Given the description of an element on the screen output the (x, y) to click on. 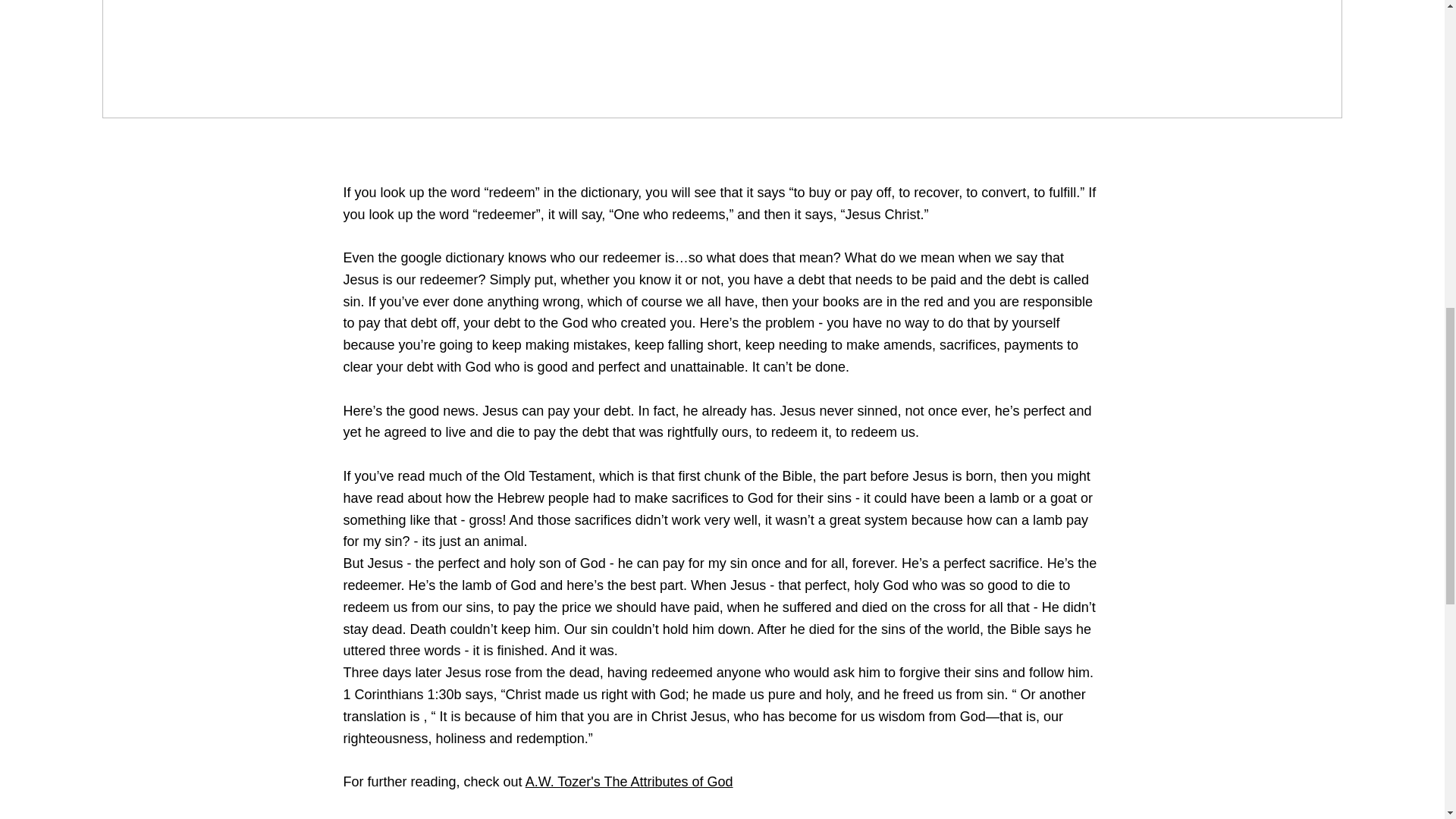
A.W. Tozer's The Attributes of God (629, 781)
